Given the description of an element on the screen output the (x, y) to click on. 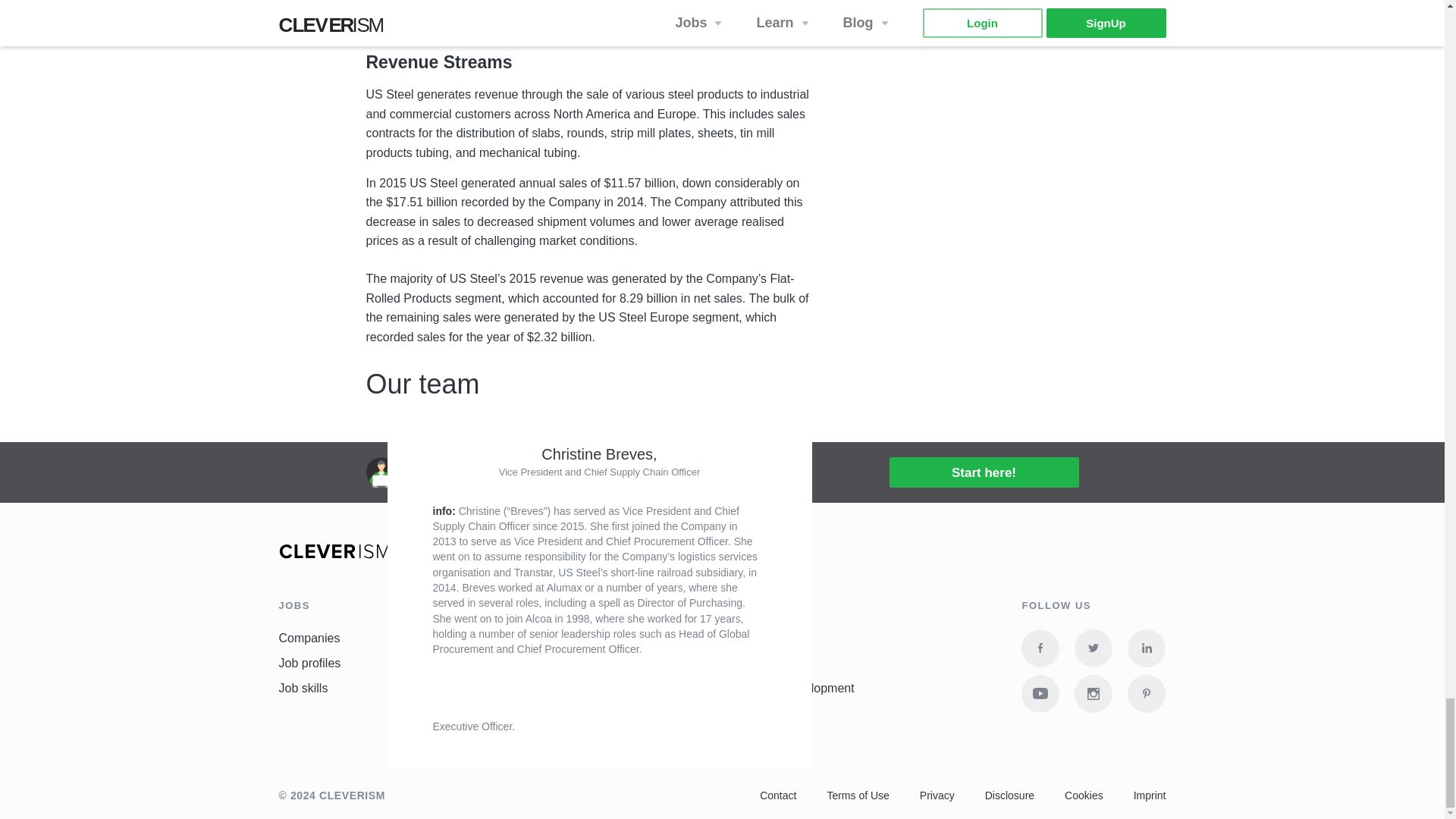
Courses (530, 638)
Start here! (983, 472)
Lexicon (529, 688)
Job profiles (309, 663)
Resources (537, 663)
Companies (309, 638)
Job skills (304, 688)
